Given the description of an element on the screen output the (x, y) to click on. 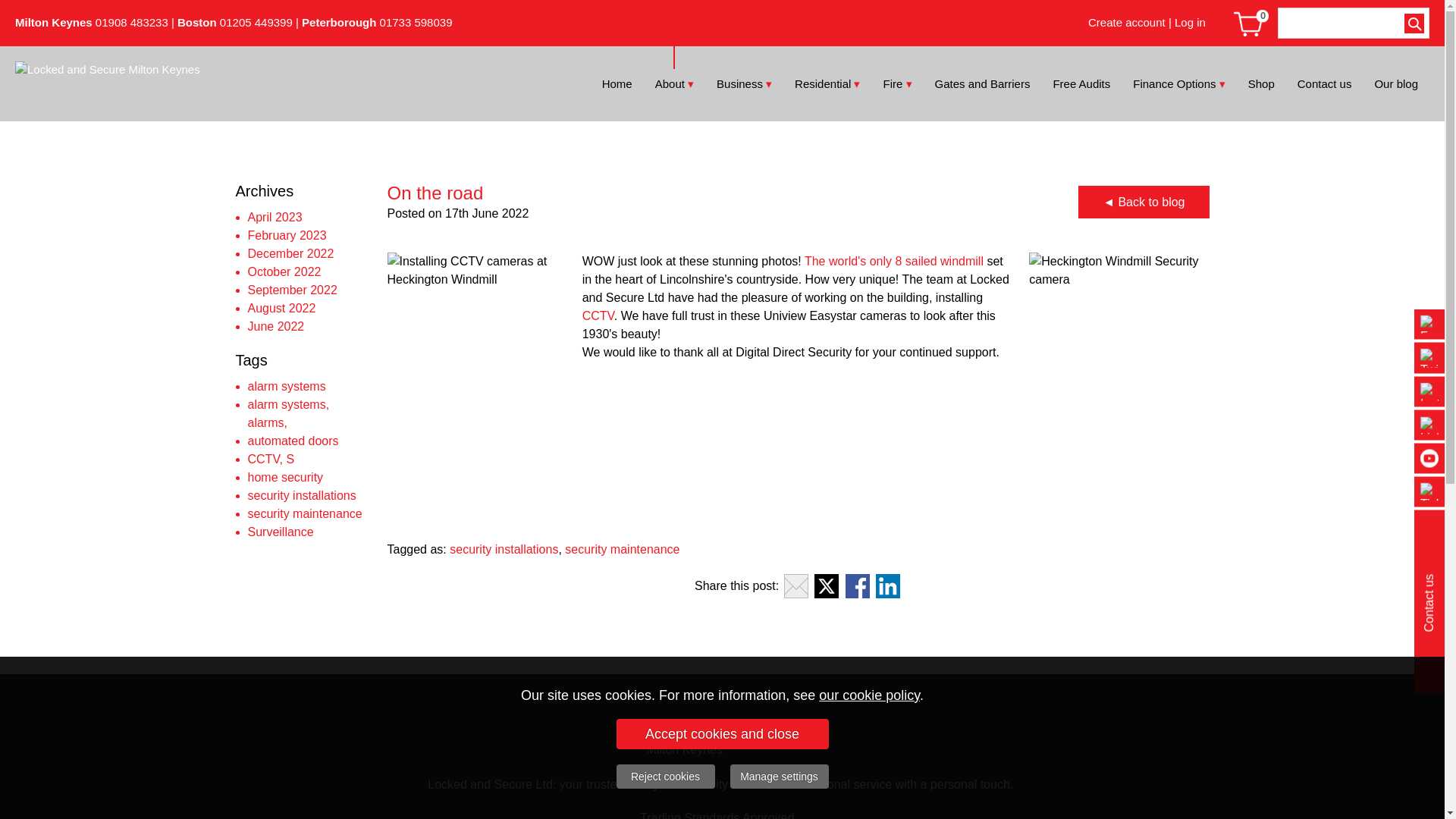
Milton Keynes 01908 483233 (91, 21)
Boston 01205 449399 (234, 21)
Create account  (1128, 21)
Business (743, 83)
Home (617, 83)
Log in (1189, 21)
About (673, 83)
Peterborough 01733 598039 (376, 21)
0 (1250, 22)
